Given the description of an element on the screen output the (x, y) to click on. 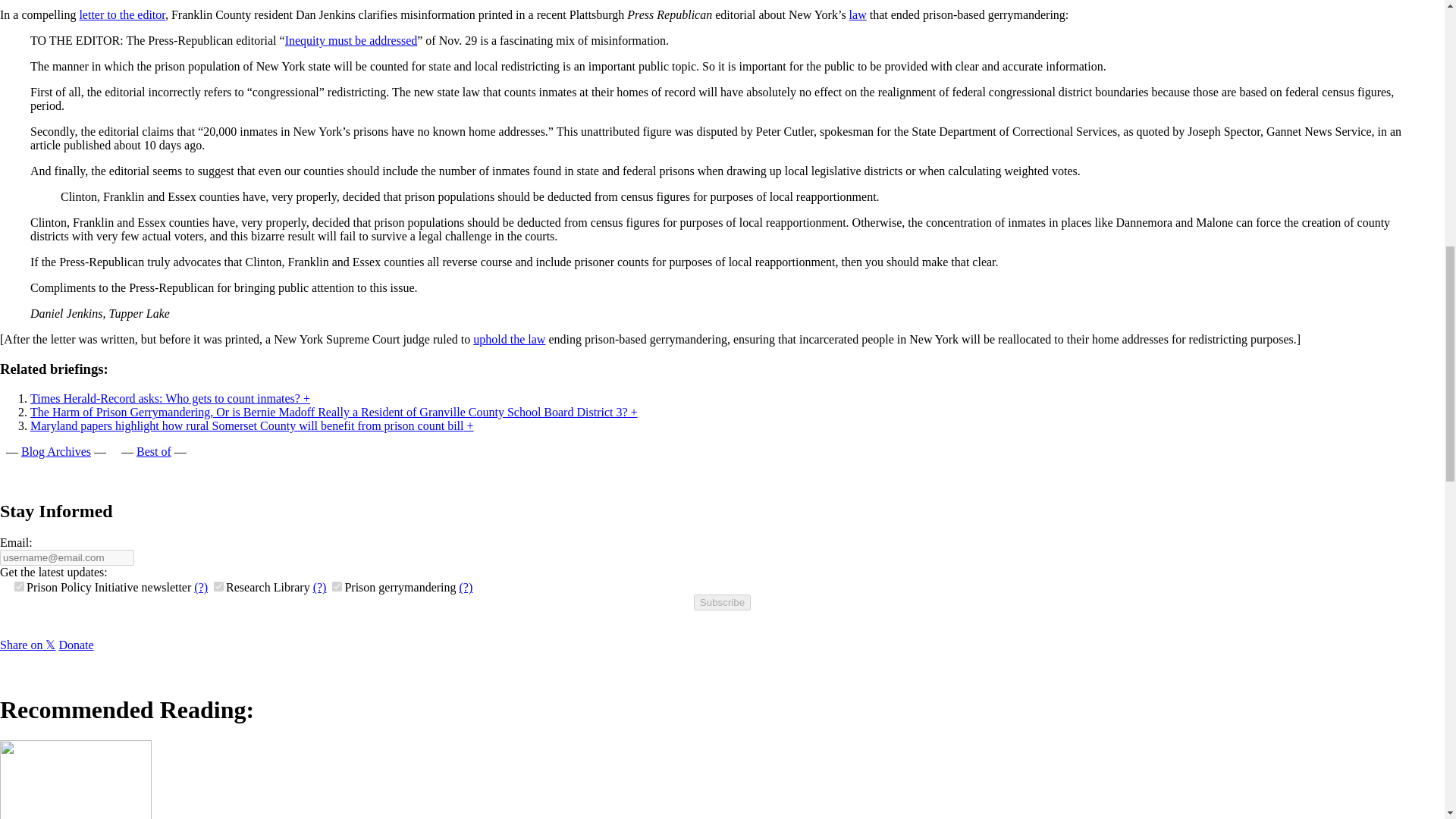
4001745 (219, 586)
4001744 (336, 586)
Subscribe (722, 602)
4001743 (19, 586)
